Given the description of an element on the screen output the (x, y) to click on. 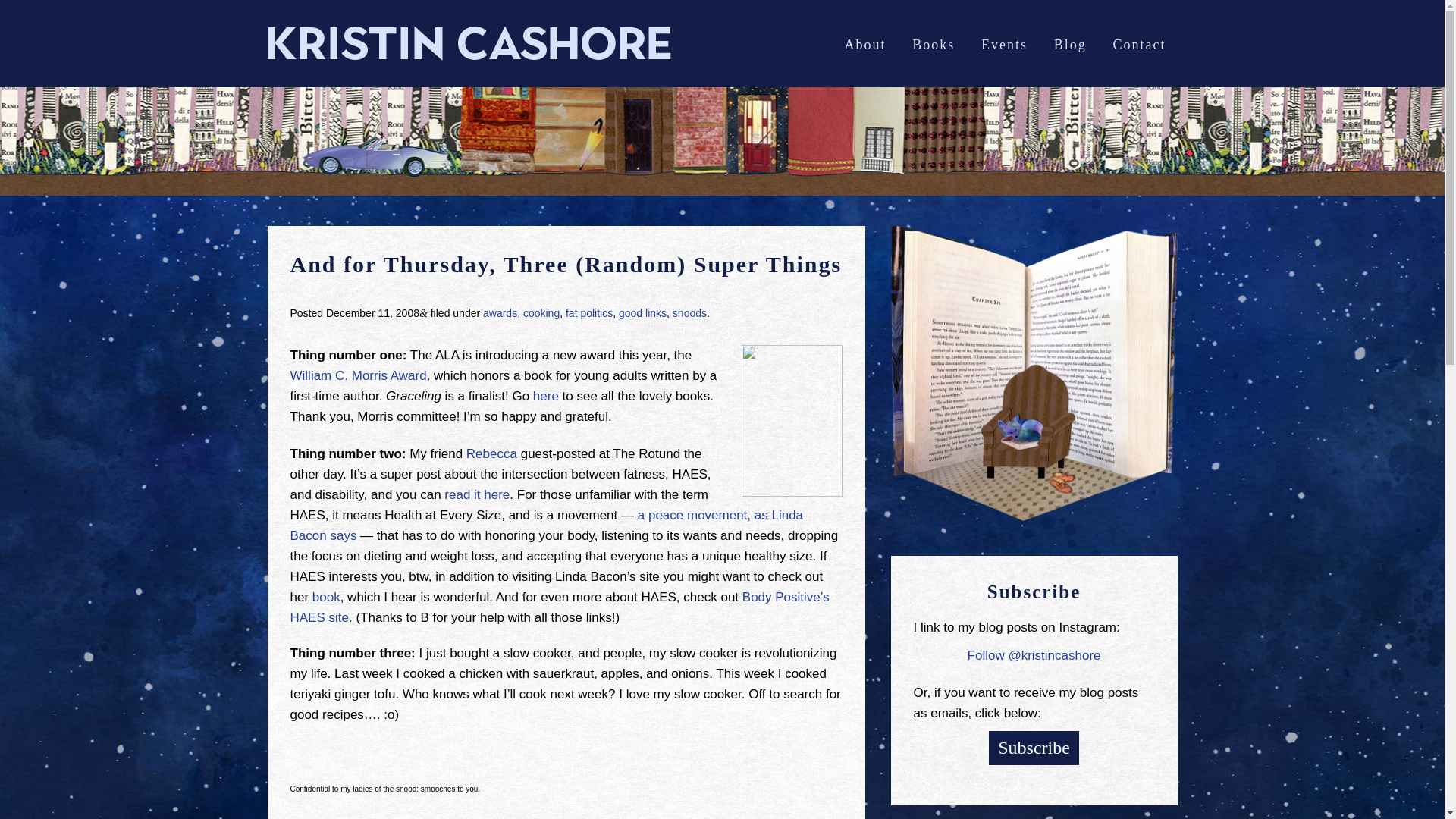
Rebecca (490, 453)
Events (1004, 44)
snoods (689, 313)
Contact (1138, 44)
William C. Morris Award (357, 375)
here (545, 396)
cooking (540, 313)
a peace movement, as Linda Bacon says (546, 524)
fat politics (589, 313)
Subscribe (1033, 747)
